Given the description of an element on the screen output the (x, y) to click on. 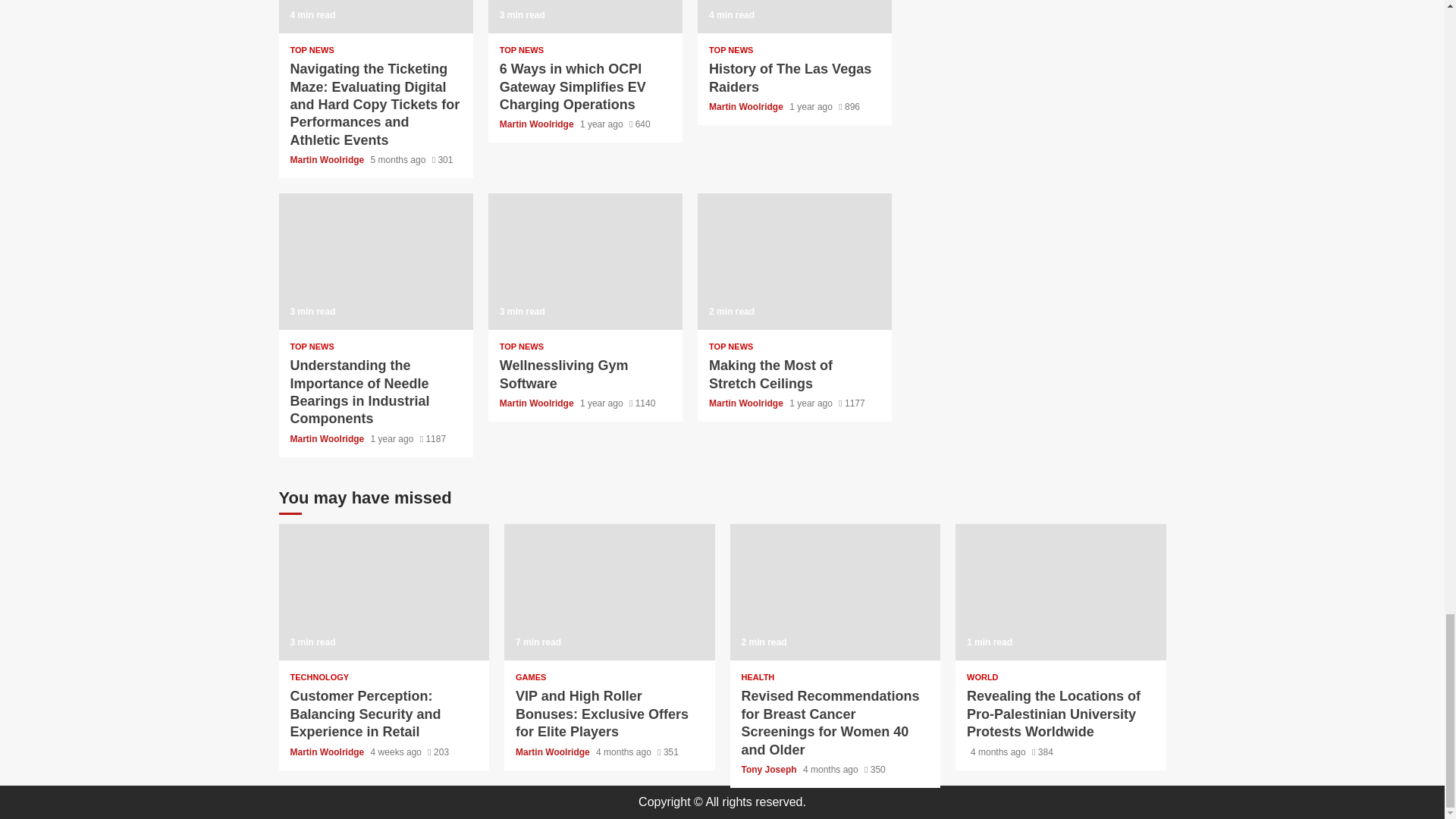
TOP NEWS (311, 49)
History of The Las Vegas Raiders (789, 77)
TOP NEWS (521, 49)
301 (442, 159)
TOP NEWS (730, 49)
Martin Woolridge (747, 106)
Martin Woolridge (537, 123)
